Given the description of an element on the screen output the (x, y) to click on. 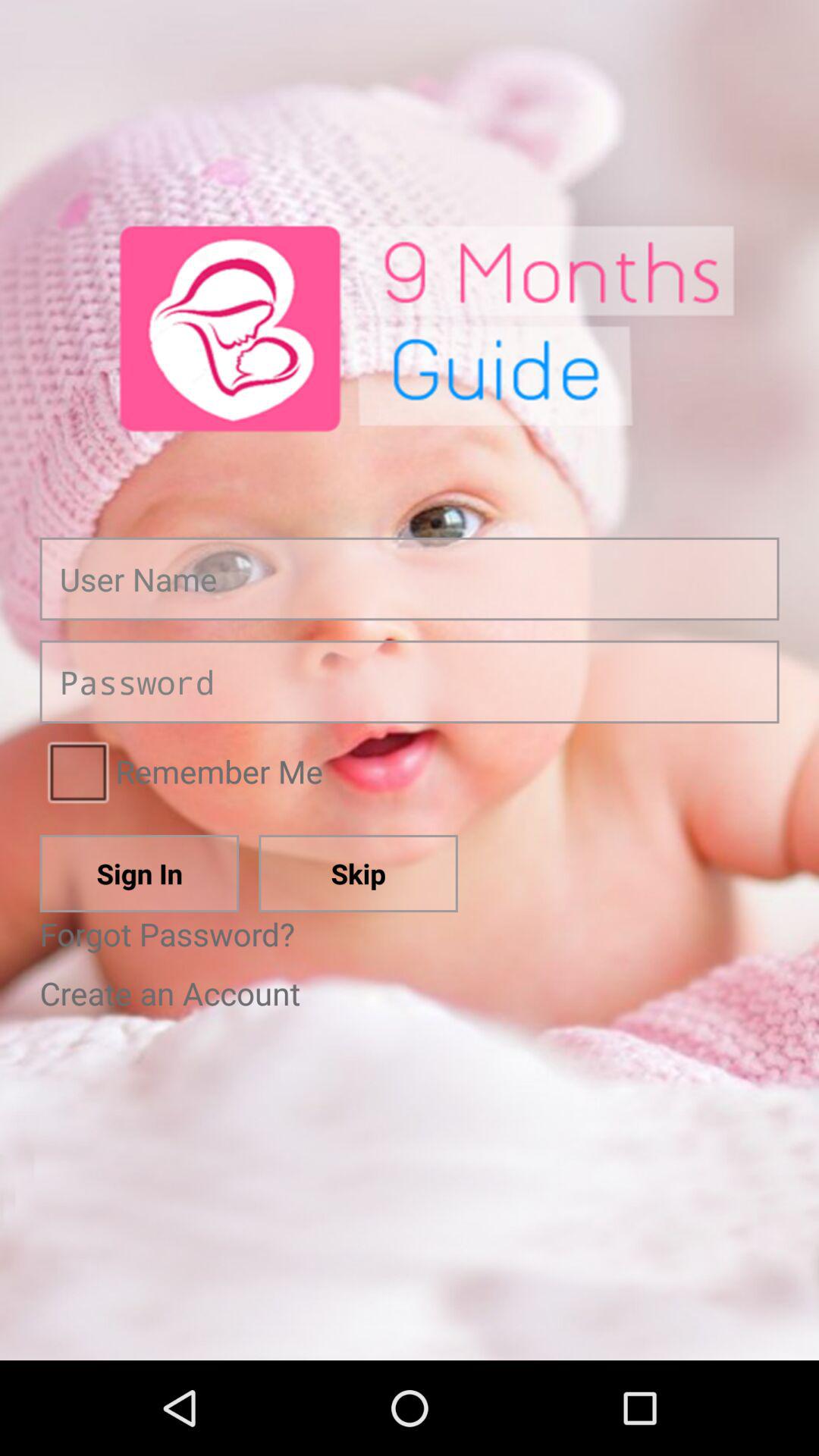
space to enter the user name (409, 578)
